Given the description of an element on the screen output the (x, y) to click on. 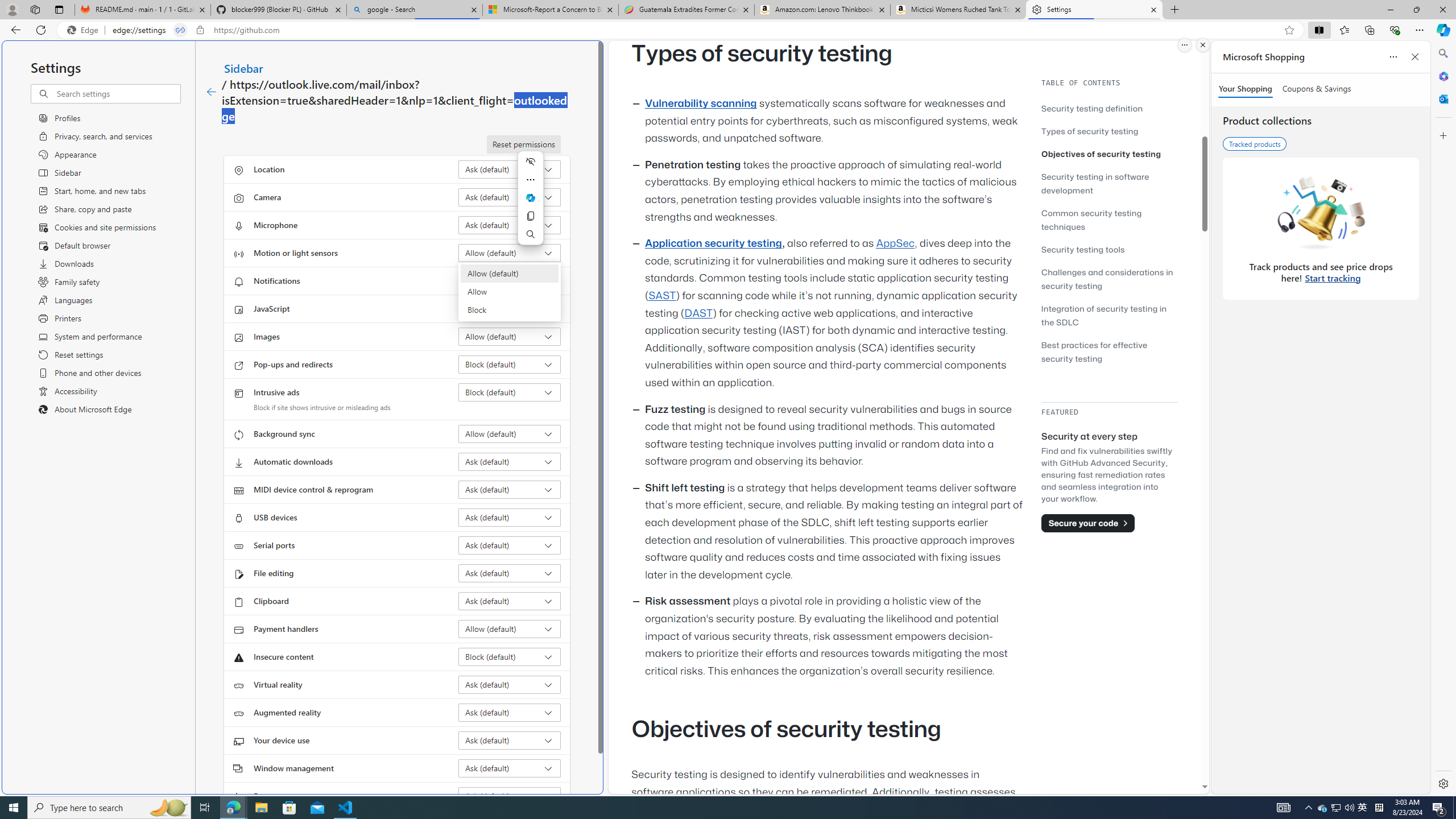
Search (530, 234)
Split screen (1318, 29)
Vulnerability scanning (701, 103)
Close split screen. (1202, 45)
Address and search bar (695, 29)
App bar (728, 29)
Ask Copilot (530, 198)
Clipboard Ask (default) (509, 601)
Mini menu on text selection (530, 197)
Minimize (1390, 9)
Images Allow (default) (509, 336)
Security testing definition (1091, 108)
Serial ports Ask (default) (509, 545)
